Given the description of an element on the screen output the (x, y) to click on. 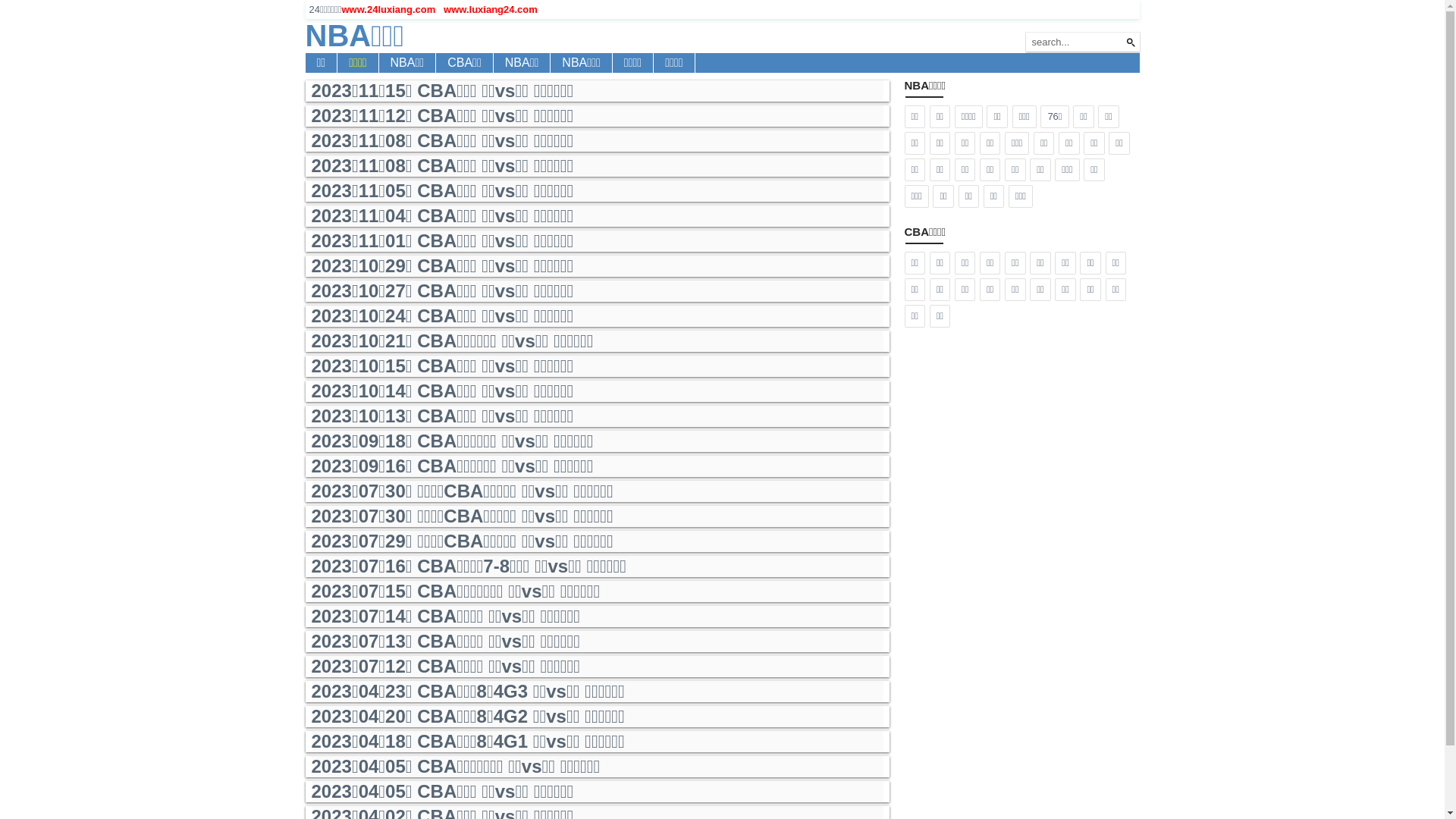
www.luxiang24.com Element type: text (490, 9)
www.24luxiang.com Element type: text (388, 9)
